Given the description of an element on the screen output the (x, y) to click on. 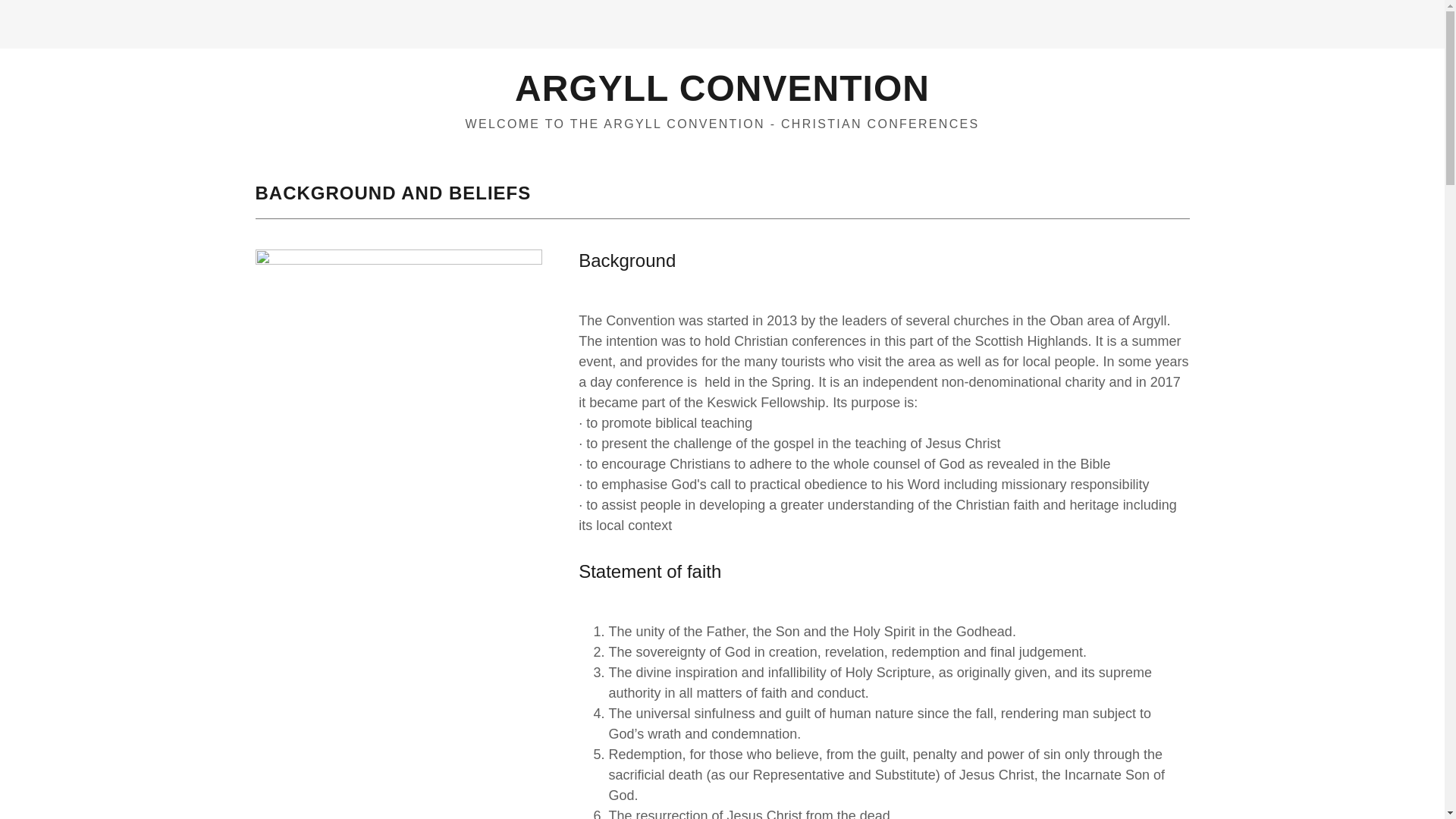
ARGYLL CONVENTION (722, 96)
Argyll Convention (722, 96)
